Given the description of an element on the screen output the (x, y) to click on. 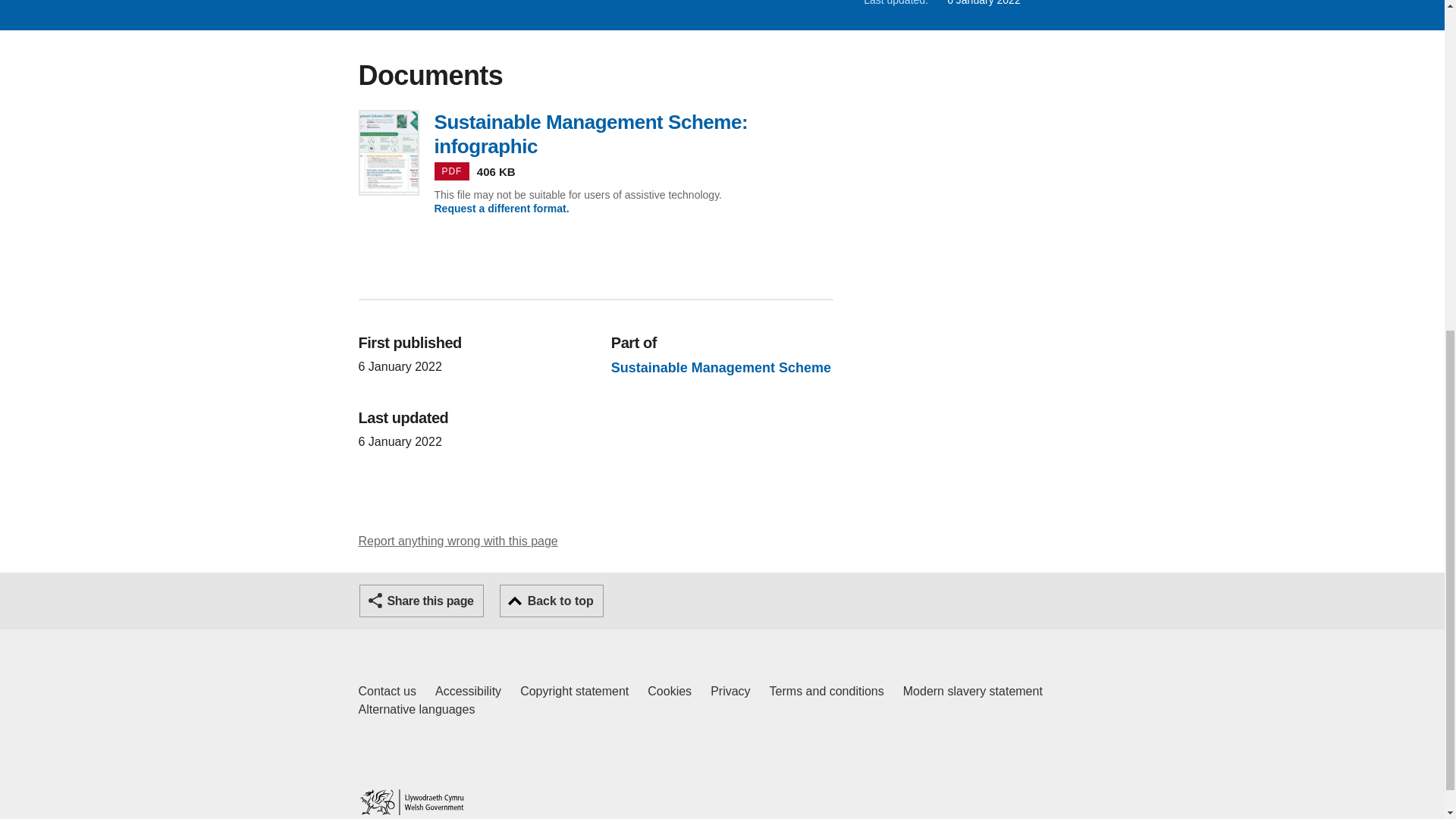
Modern slavery statement (972, 691)
Terms and conditions (826, 691)
Request a different format. (501, 208)
Share this page (386, 691)
Privacy (421, 600)
Home (729, 691)
Copyright statement (411, 801)
Report anything wrong with this page (573, 691)
Back to top (457, 540)
Accessibility (551, 600)
Alternative languages (467, 691)
Cookies (416, 710)
